Given the description of an element on the screen output the (x, y) to click on. 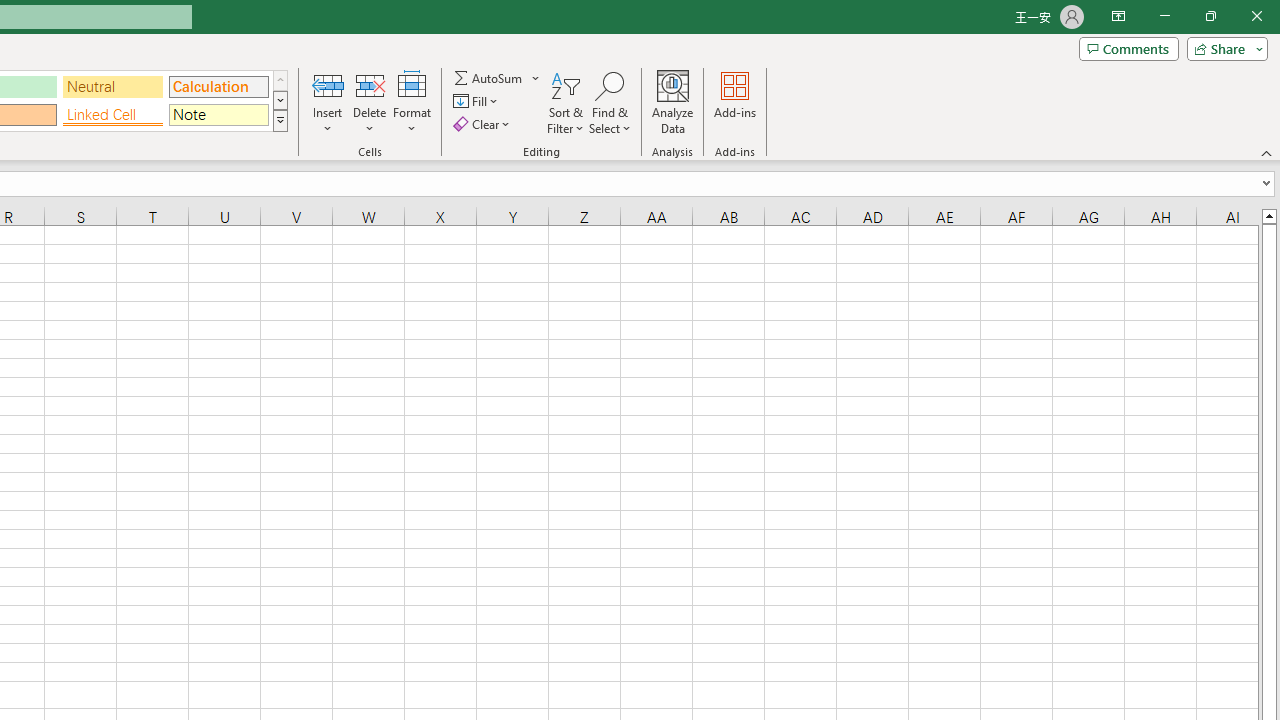
Minimize (1164, 16)
Share (1223, 48)
Close (1256, 16)
Fill (477, 101)
Row up (280, 79)
More Options (536, 78)
Analyze Data (673, 102)
Delete Cells... (369, 84)
Sum (489, 78)
Insert Cells (328, 84)
Delete (369, 102)
Sort & Filter (566, 102)
Note (218, 114)
